Given the description of an element on the screen output the (x, y) to click on. 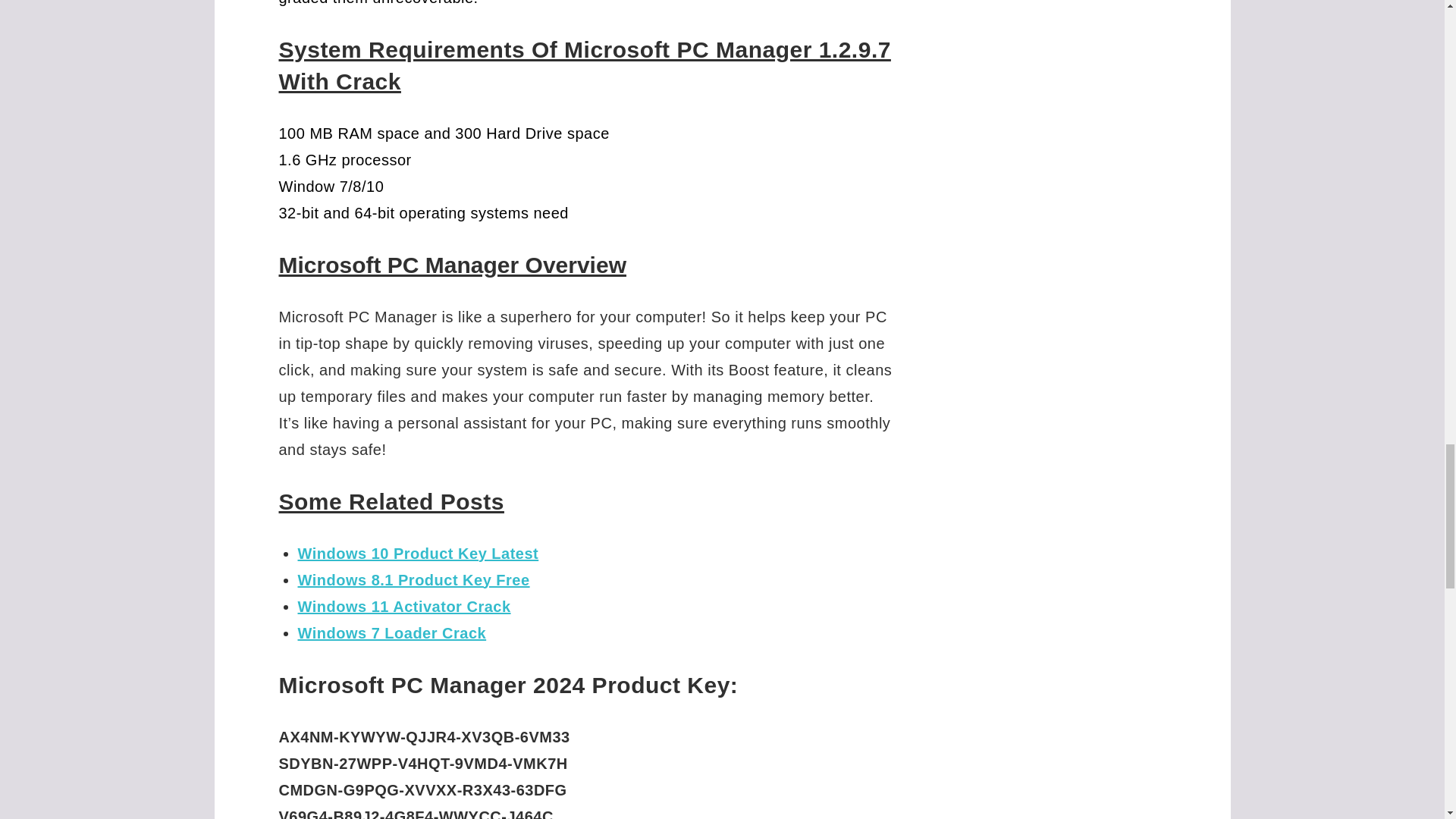
Windows 10 Product Key Latest (417, 552)
Windows 8.1 Product Key Free (413, 579)
